Given the description of an element on the screen output the (x, y) to click on. 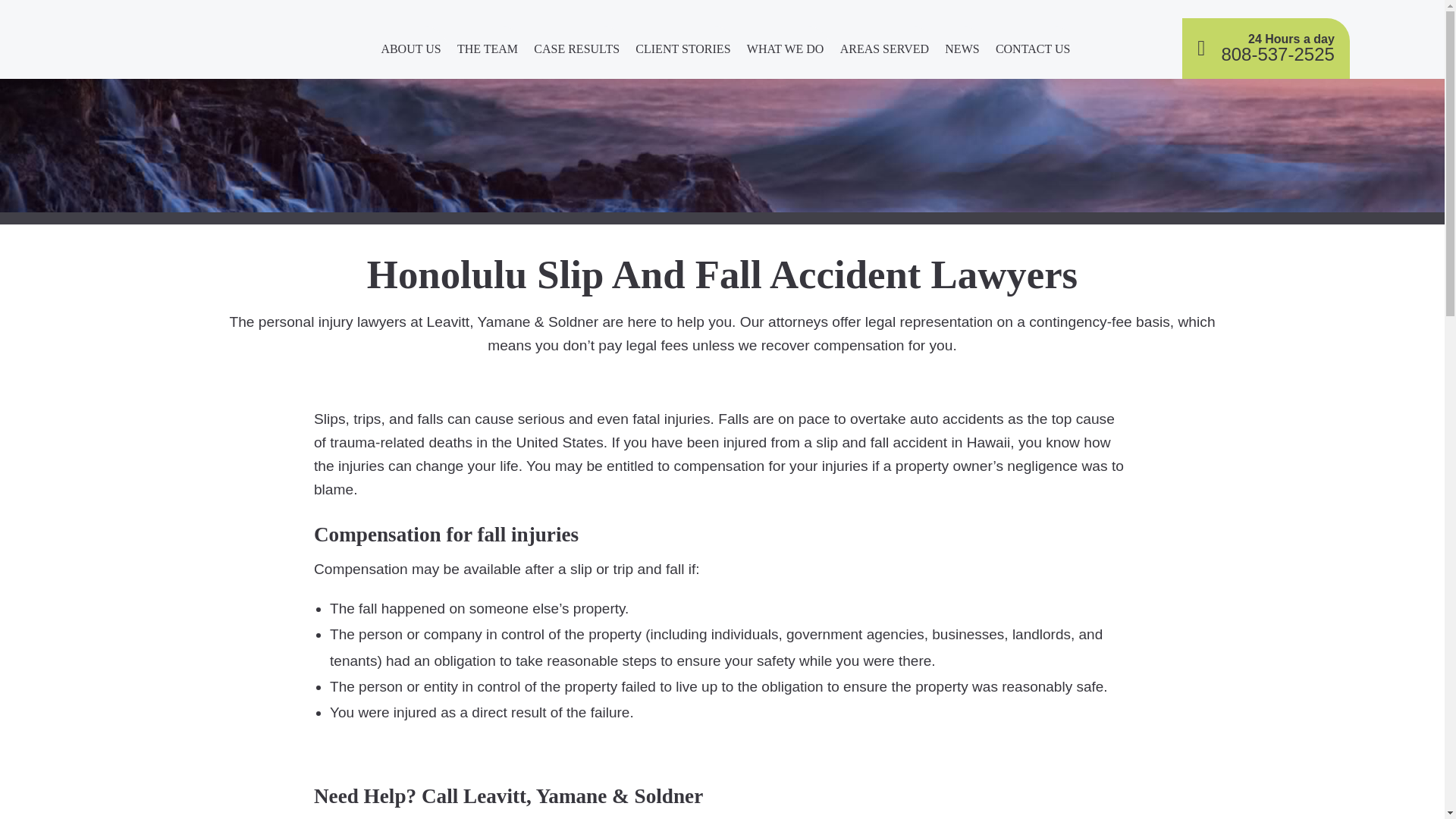
AREAS SERVED (884, 52)
ABOUT US (411, 52)
THE TEAM (486, 52)
Call us at 808-537-2525 (1265, 48)
CLIENT STORIES (682, 52)
WHAT WE DO (784, 52)
CASE RESULTS (576, 52)
